Given the description of an element on the screen output the (x, y) to click on. 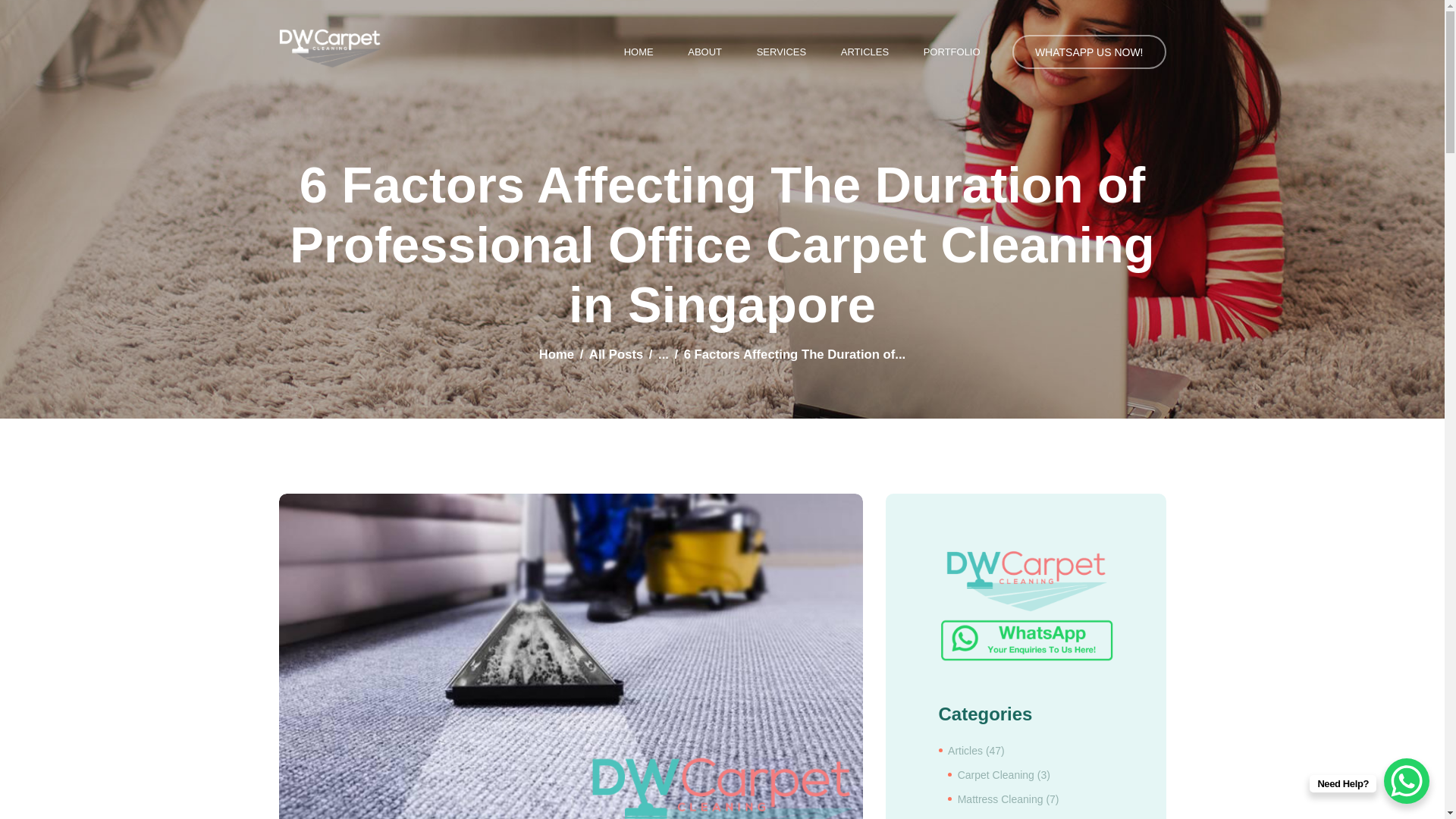
WHATSAPP US NOW! (1088, 51)
Home (555, 354)
ARTICLES (864, 51)
ABOUT (703, 51)
PORTFOLIO (951, 51)
HOME (639, 51)
All Posts (616, 354)
SERVICES (781, 51)
